Given the description of an element on the screen output the (x, y) to click on. 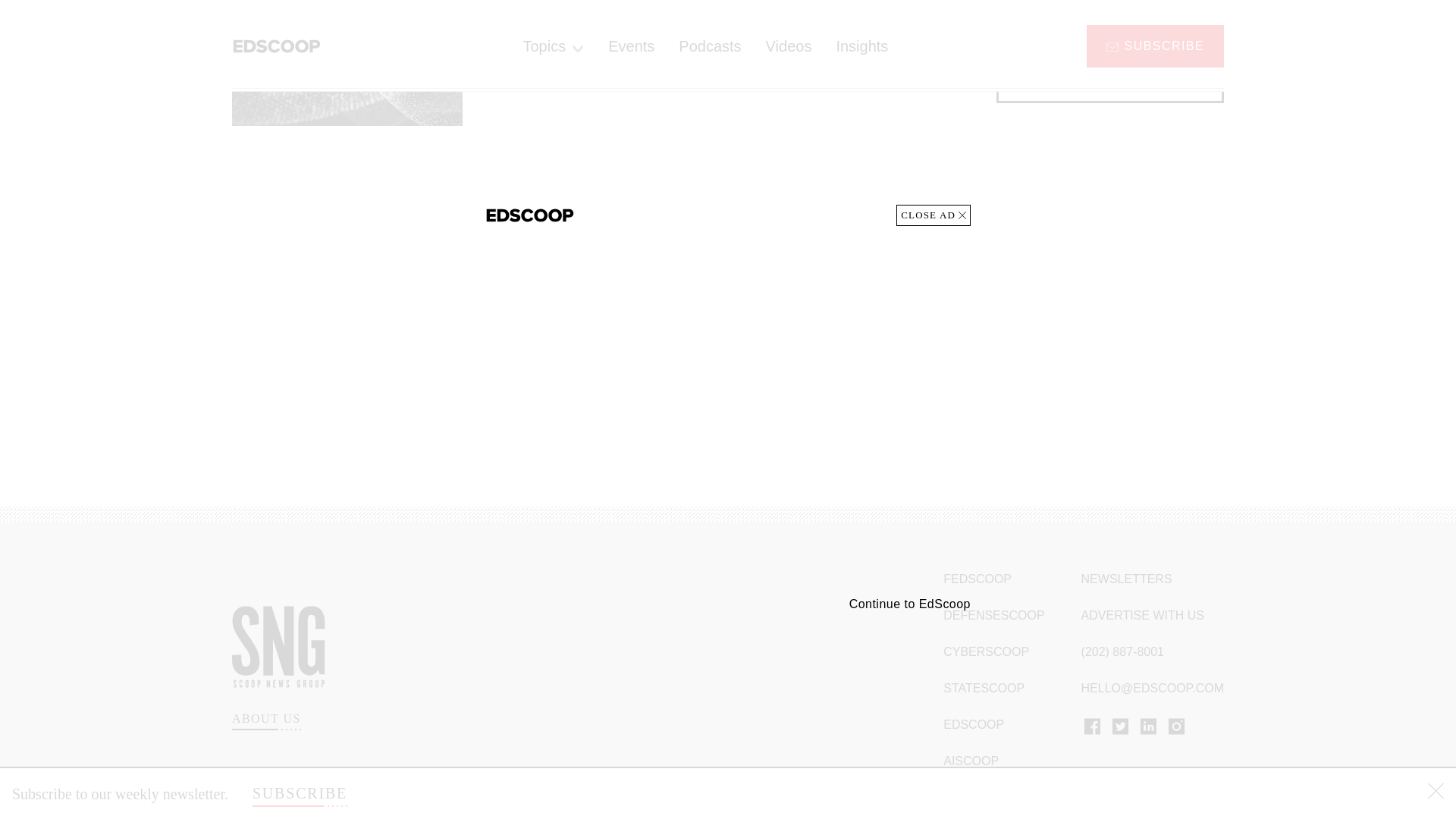
CLOSE (1436, 29)
SUBSCRIBE (299, 29)
